Given the description of an element on the screen output the (x, y) to click on. 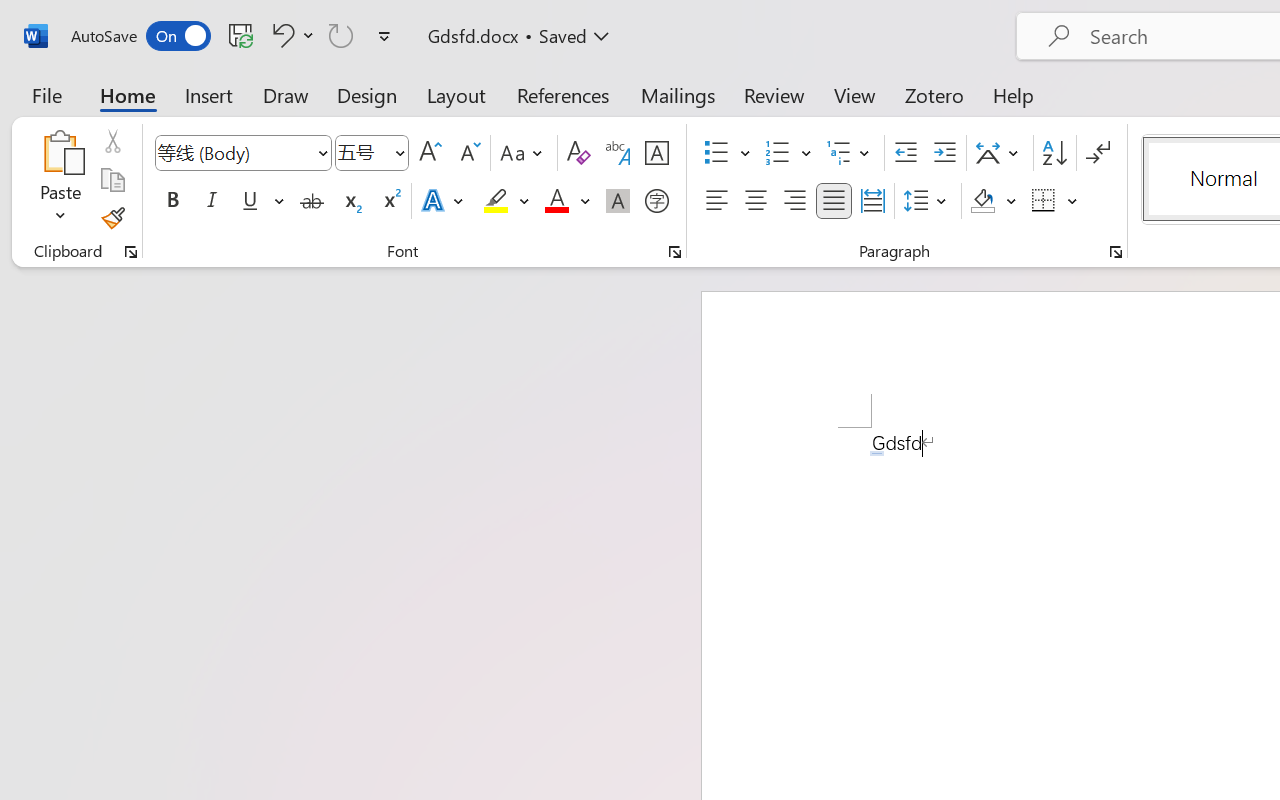
Superscript (390, 201)
Justify (834, 201)
Office Clipboard... (131, 252)
Open (399, 152)
Align Right (794, 201)
Action: Undo Auto Actions (877, 453)
Sort... (1054, 153)
Shading RGB(0, 0, 0) (982, 201)
